Given the description of an element on the screen output the (x, y) to click on. 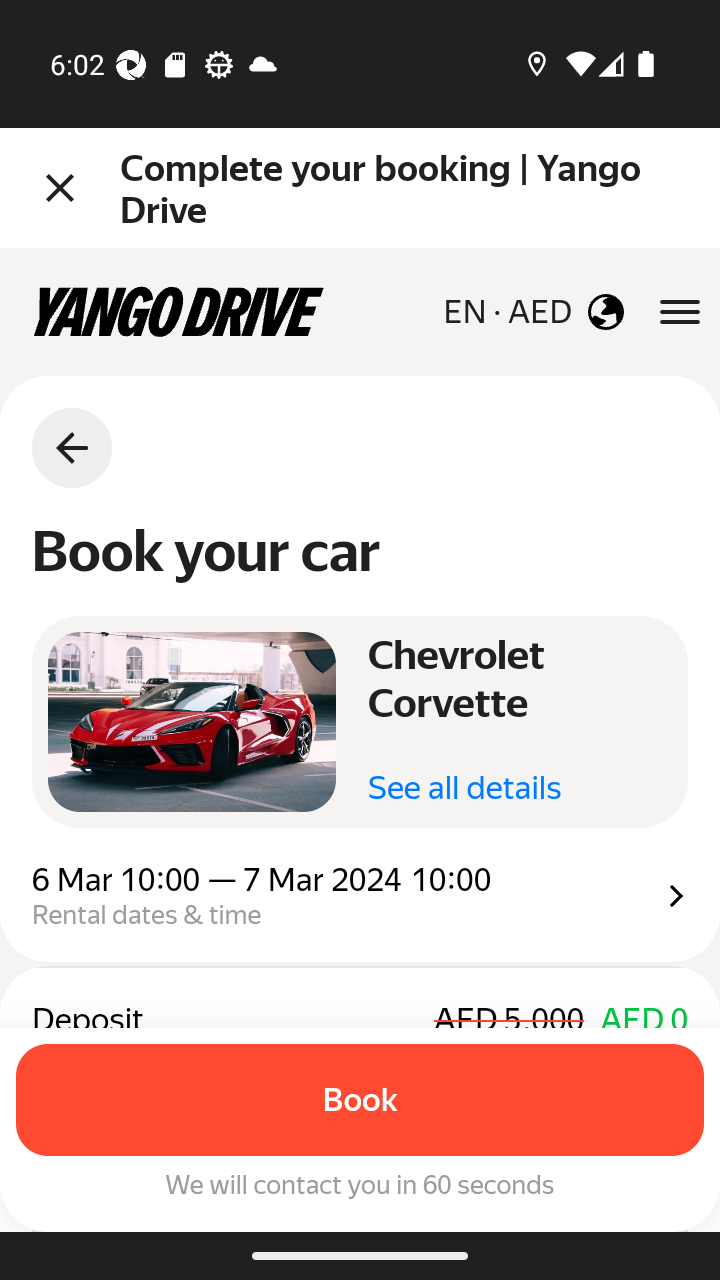
Close Complete your booking | Yango Drive (360, 188)
Close (60, 188)
EN · AED (533, 312)
Chevrolet Corvette (192, 721)
See all details (464, 787)
Delivery (359, 872)
Book (359, 1099)
